Given the description of an element on the screen output the (x, y) to click on. 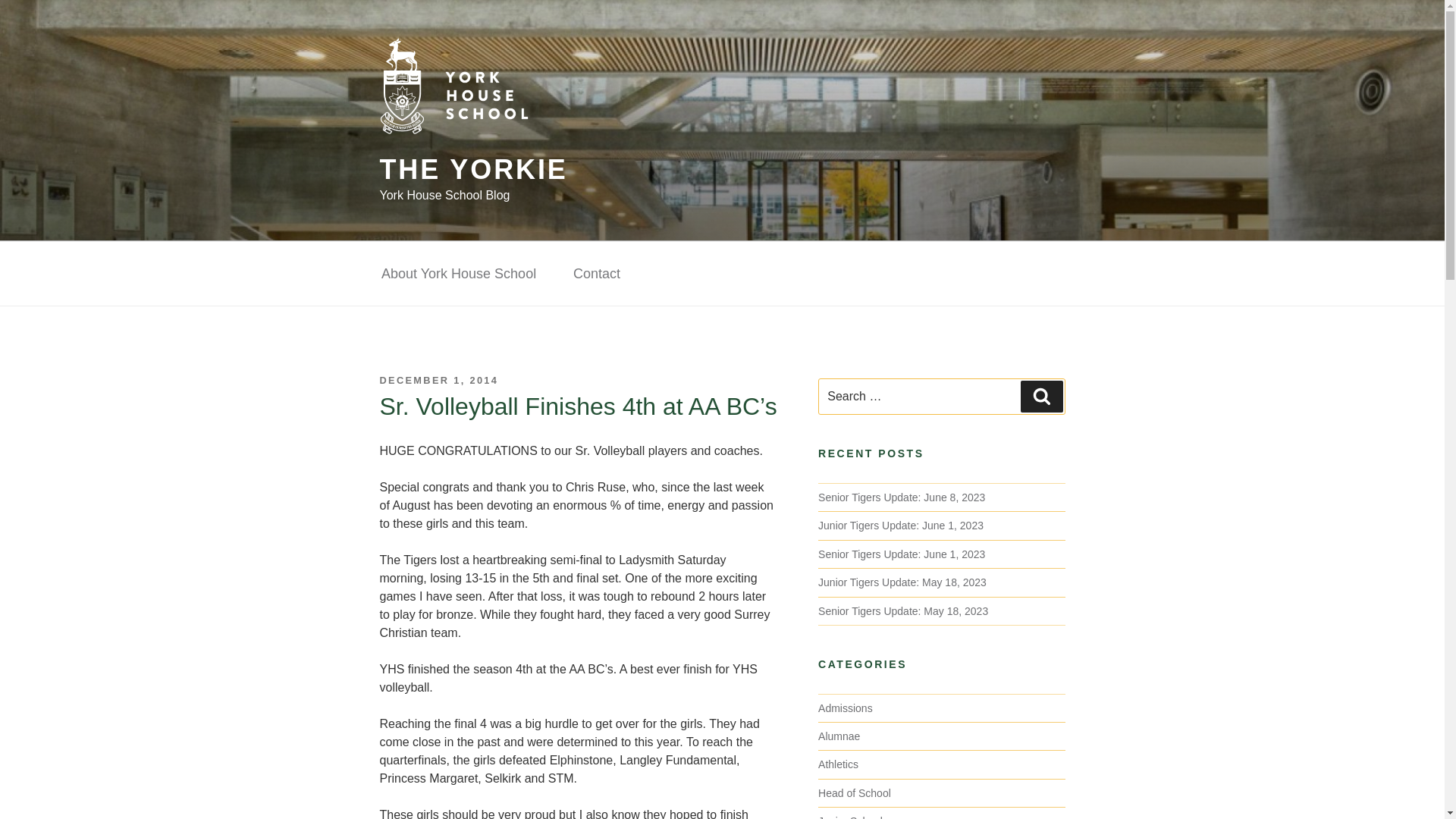
Junior Tigers Update: May 18, 2023 (902, 582)
Athletics (838, 764)
Head of School (854, 793)
Junior Tigers Update: June 1, 2023 (901, 525)
Senior Tigers Update: June 1, 2023 (901, 553)
DECEMBER 1, 2014 (437, 379)
Contact (596, 274)
THE YORKIE (472, 169)
Senior Tigers Update: May 18, 2023 (903, 611)
Alumnae (839, 736)
Search (1041, 396)
Junior School (850, 816)
Admissions (845, 707)
About York House School (458, 274)
Senior Tigers Update: June 8, 2023 (901, 497)
